Given the description of an element on the screen output the (x, y) to click on. 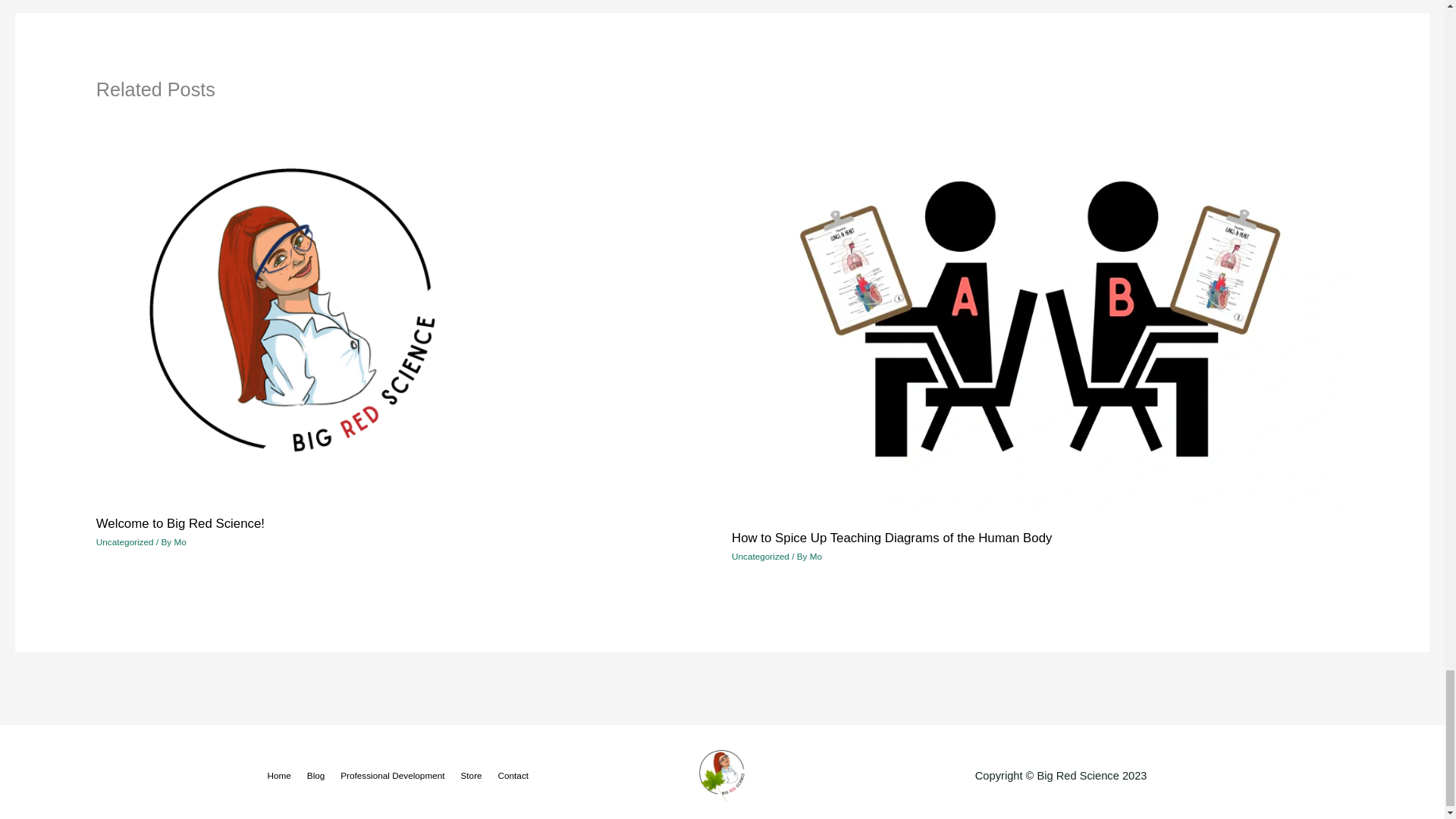
Mo (179, 541)
How to Spice Up Teaching Diagrams of the Human Body (891, 537)
Welcome to Big Red Science! (180, 523)
View all posts by Mo (815, 556)
View all posts by Mo (179, 541)
Uncategorized (760, 556)
Uncategorized (125, 541)
